Given the description of an element on the screen output the (x, y) to click on. 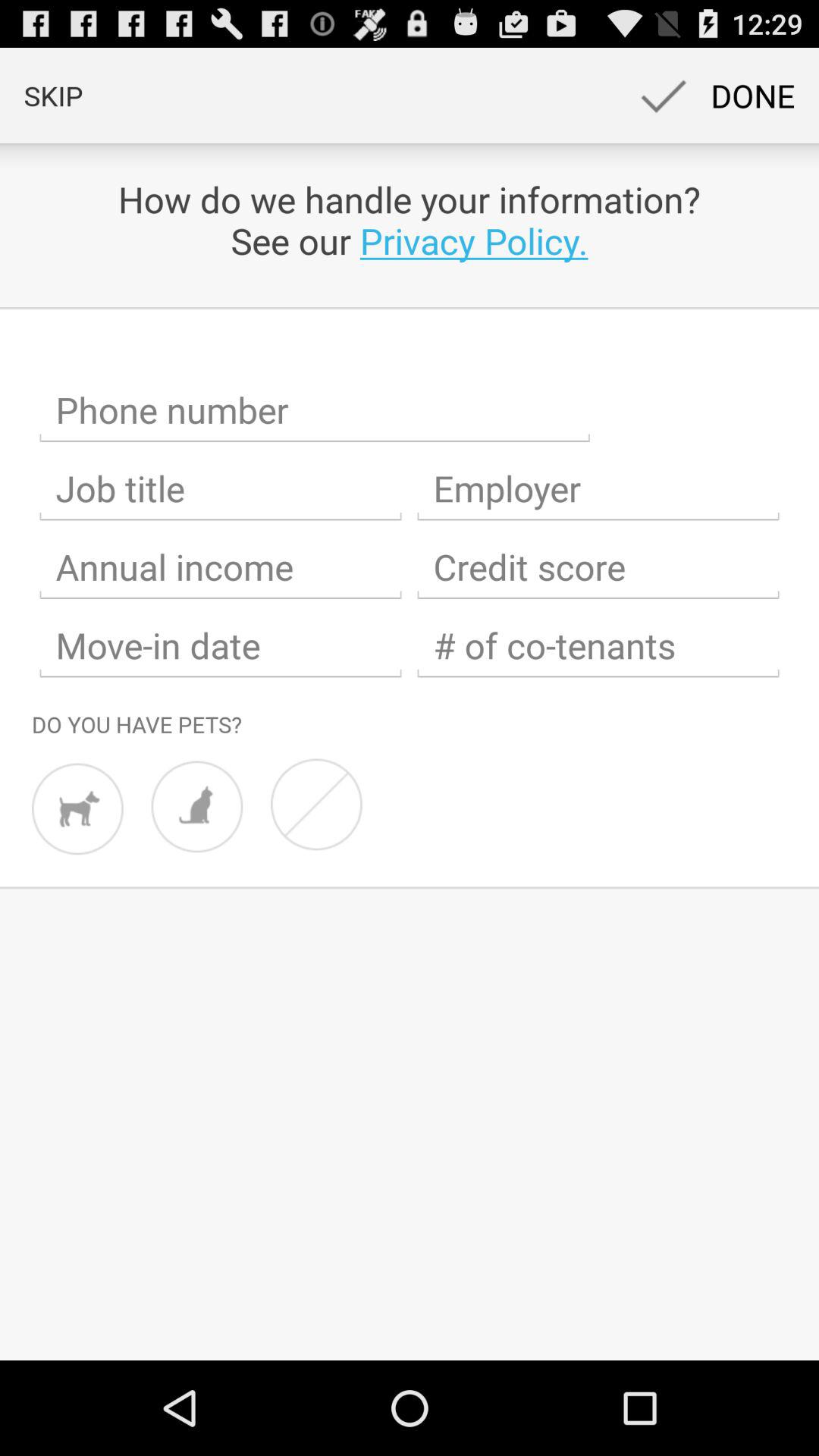
job title (220, 488)
